Given the description of an element on the screen output the (x, y) to click on. 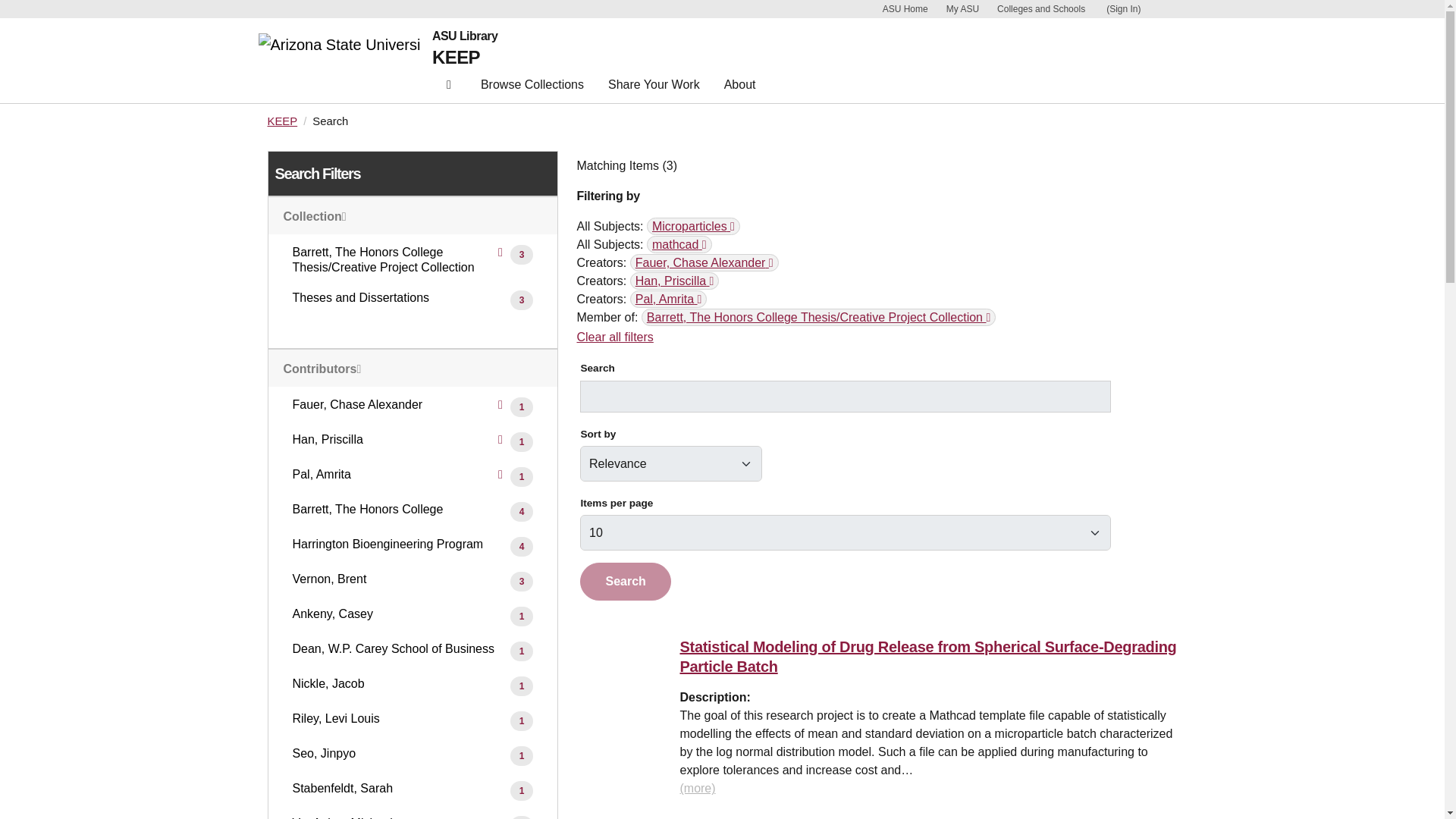
My ASU (962, 8)
Colleges and Schools (1040, 8)
ASU Home (905, 8)
Microparticles (692, 226)
Colleges and Schools (1040, 8)
Sign In (1121, 8)
Nickle, Jacob (1099, 818)
ASU Home (905, 8)
About (739, 87)
Han, Priscilla (674, 280)
Home (343, 60)
Search (624, 581)
KEEP (281, 121)
ASU Library (464, 36)
Clear all filters (614, 336)
